Given the description of an element on the screen output the (x, y) to click on. 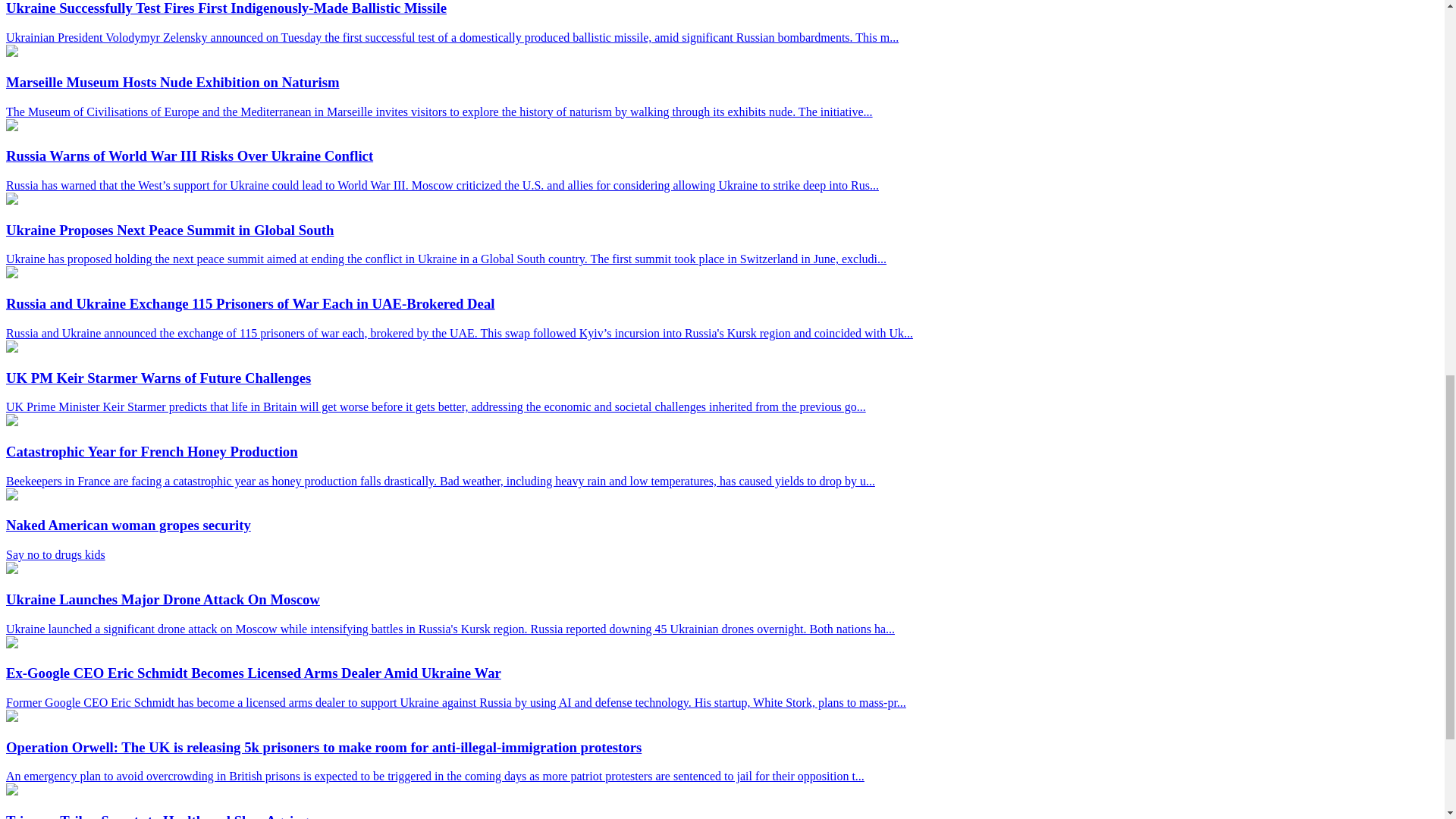
Ukraine Launches Major Drone Attack On Moscow (11, 569)
Catastrophic Year for French Honey Production (11, 421)
Russia Warns of World War III Risks Over Ukraine Conflict (11, 125)
Ukraine Proposes Next Peace Summit in Global South (11, 200)
Marseille Museum Hosts Nude Exhibition on Naturism (11, 51)
UK PM Keir Starmer Warns of Future Challenges (11, 348)
